Given the description of an element on the screen output the (x, y) to click on. 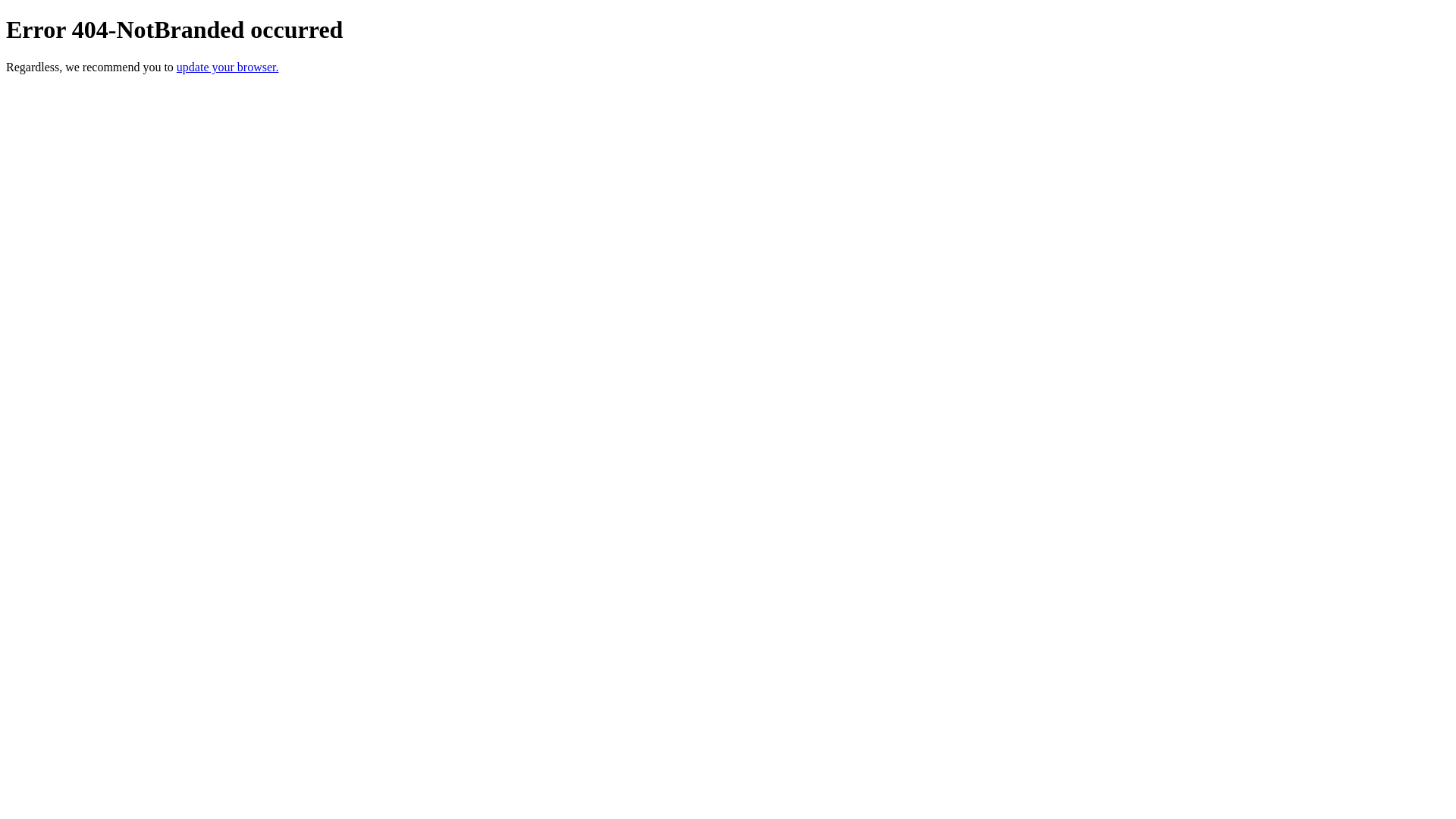
update your browser. Element type: text (227, 66)
